Given the description of an element on the screen output the (x, y) to click on. 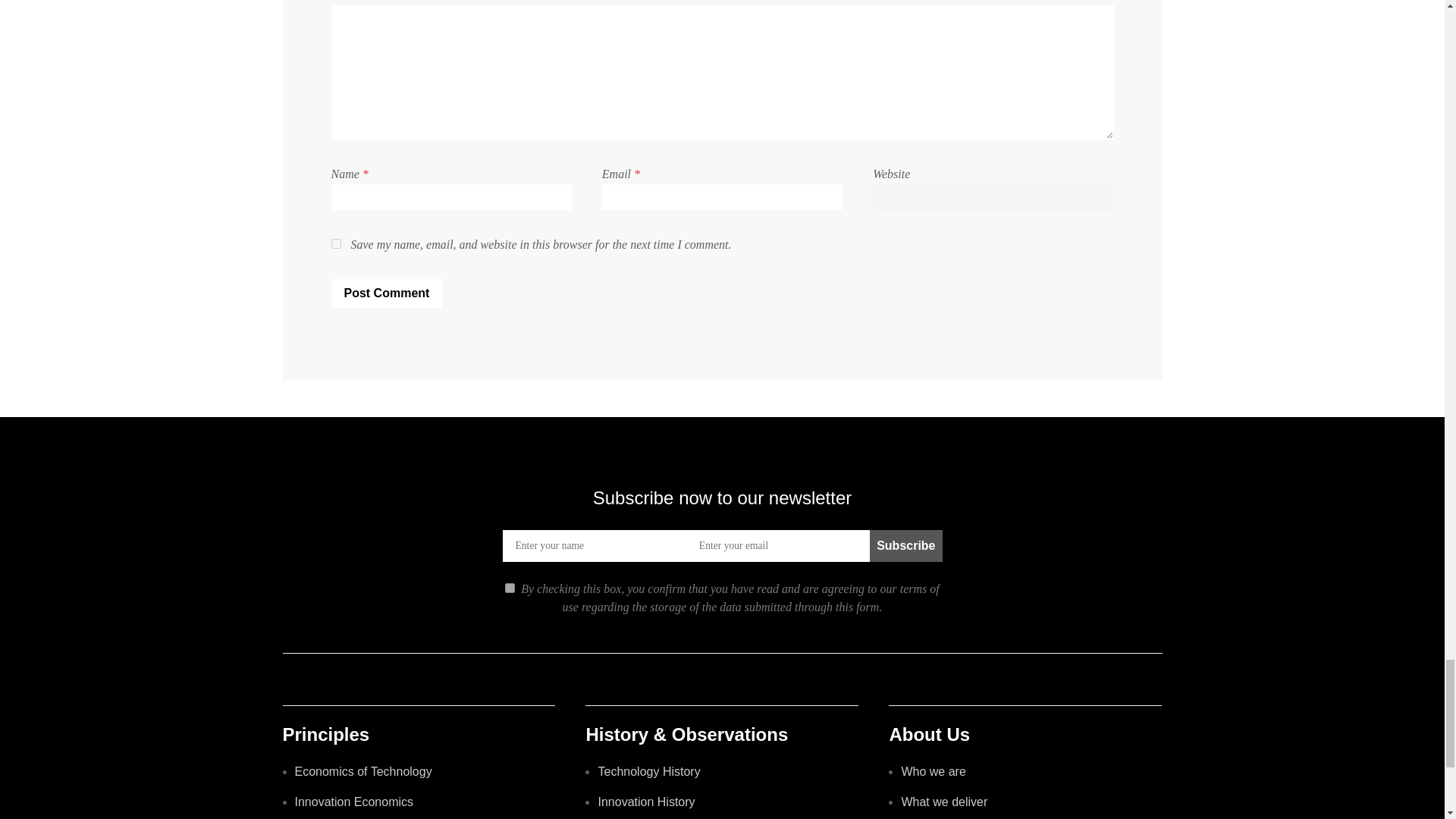
on (510, 587)
yes (335, 243)
Post Comment (386, 293)
